Given the description of an element on the screen output the (x, y) to click on. 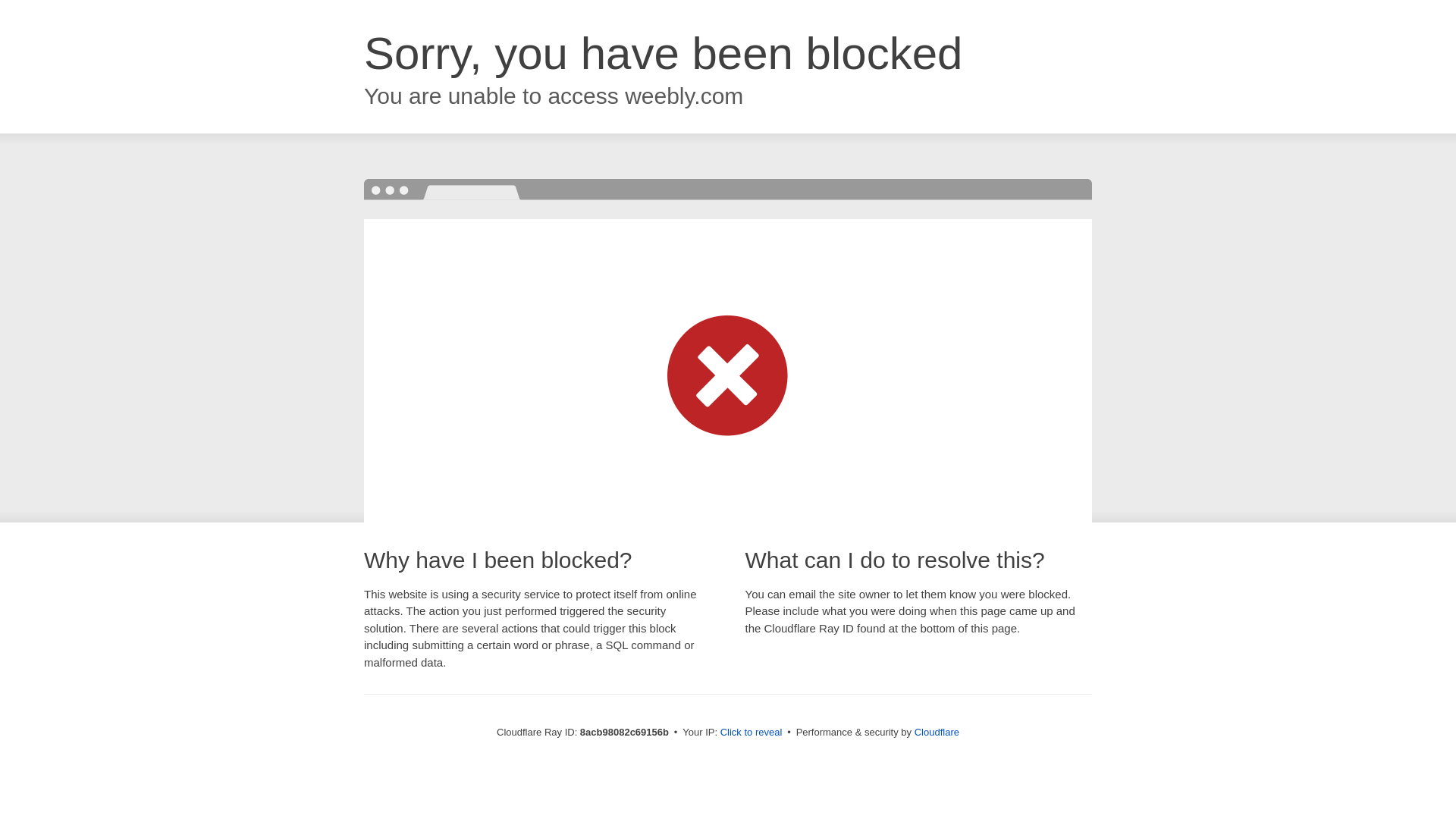
Cloudflare (936, 731)
Click to reveal (751, 732)
